Given the description of an element on the screen output the (x, y) to click on. 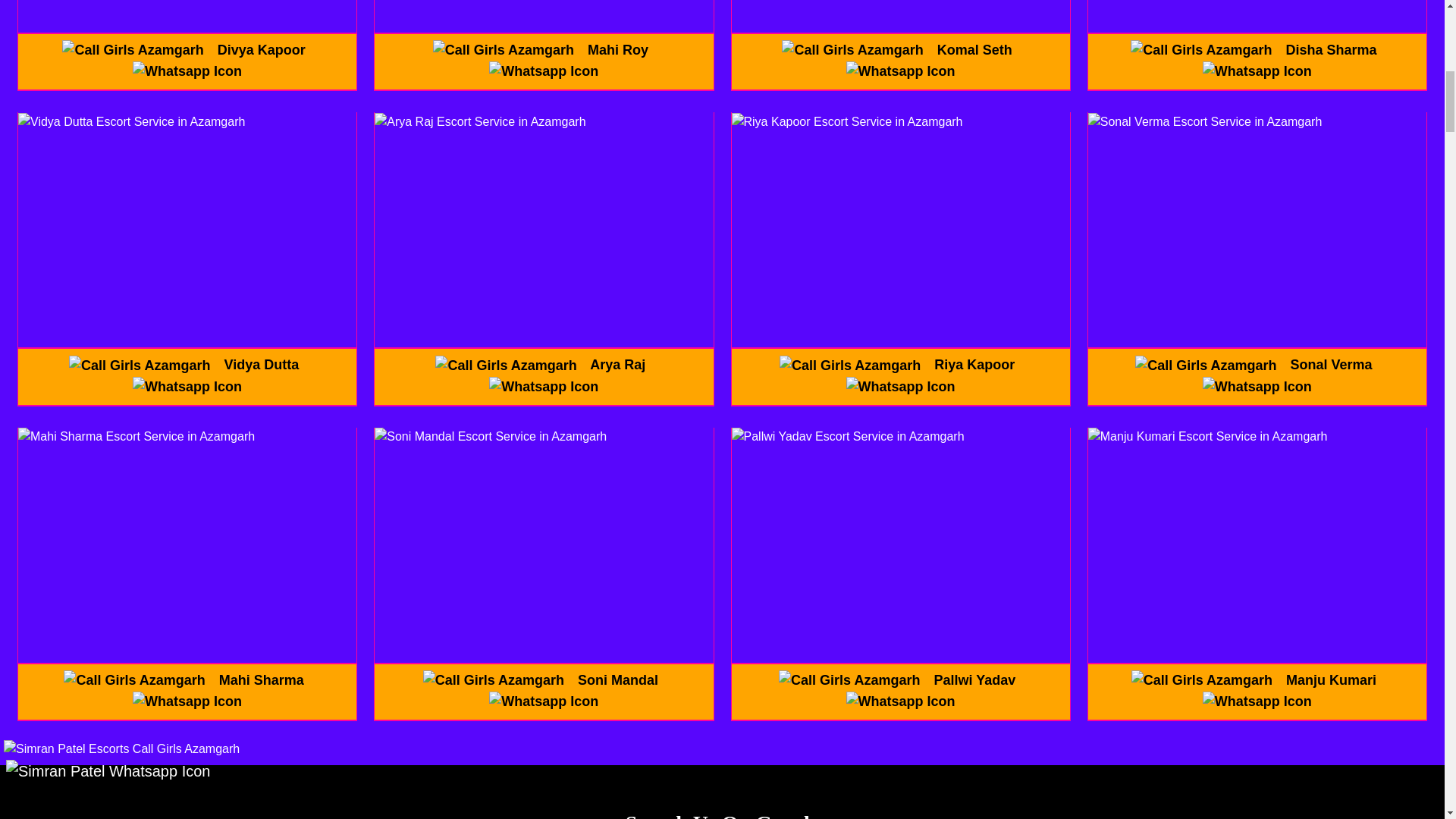
Divya Kapoor (260, 49)
